Given the description of an element on the screen output the (x, y) to click on. 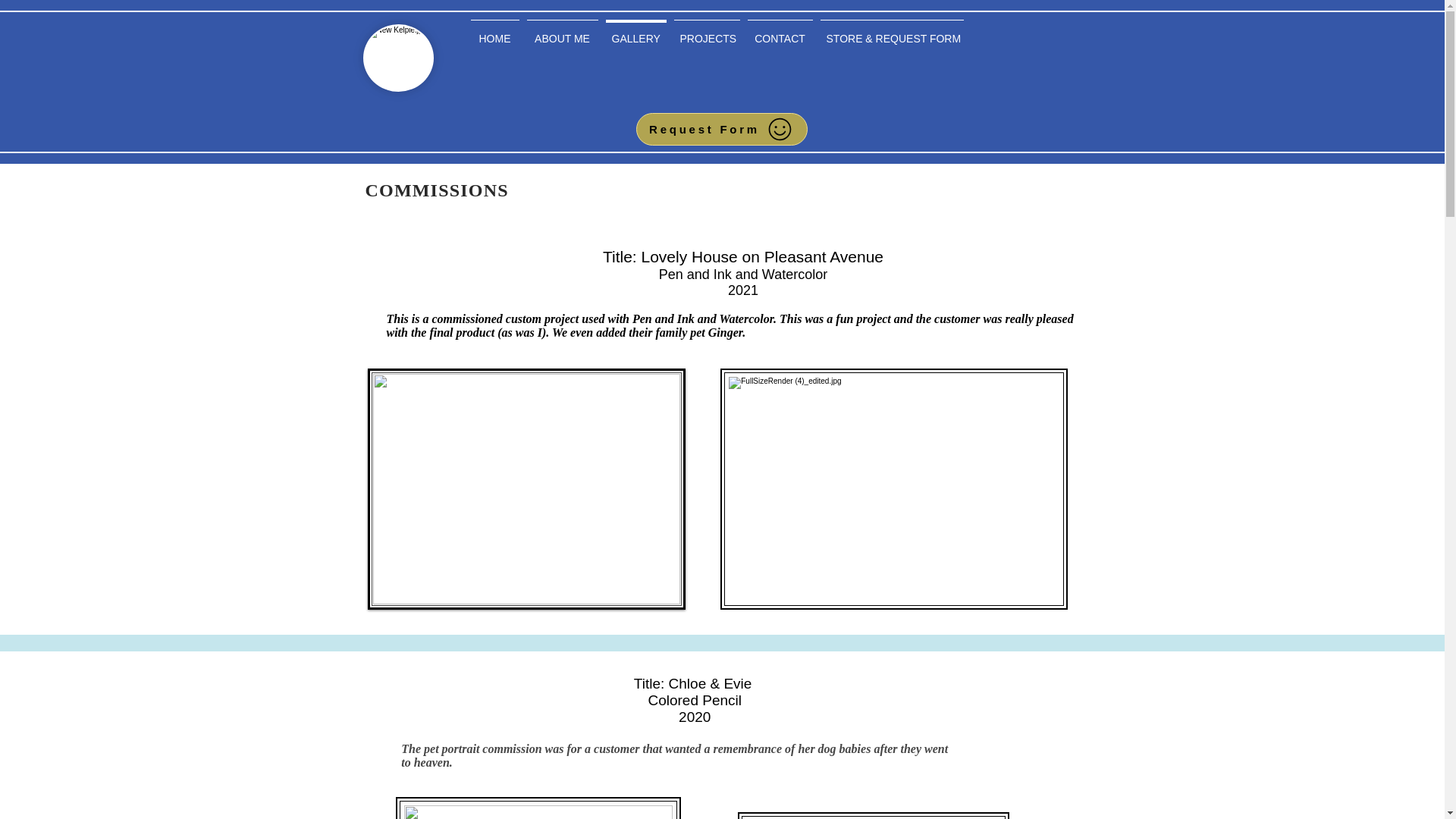
CONTACT (778, 31)
ABOUT ME (562, 31)
HOME (494, 31)
GALLERY (635, 31)
Kelly's Dogs Chloe and Eve Colored Pencil 8.5 x 11.jpg (538, 807)
PROJECTS (706, 31)
Jeans House.jpg (526, 488)
Request Form (720, 129)
